Given the description of an element on the screen output the (x, y) to click on. 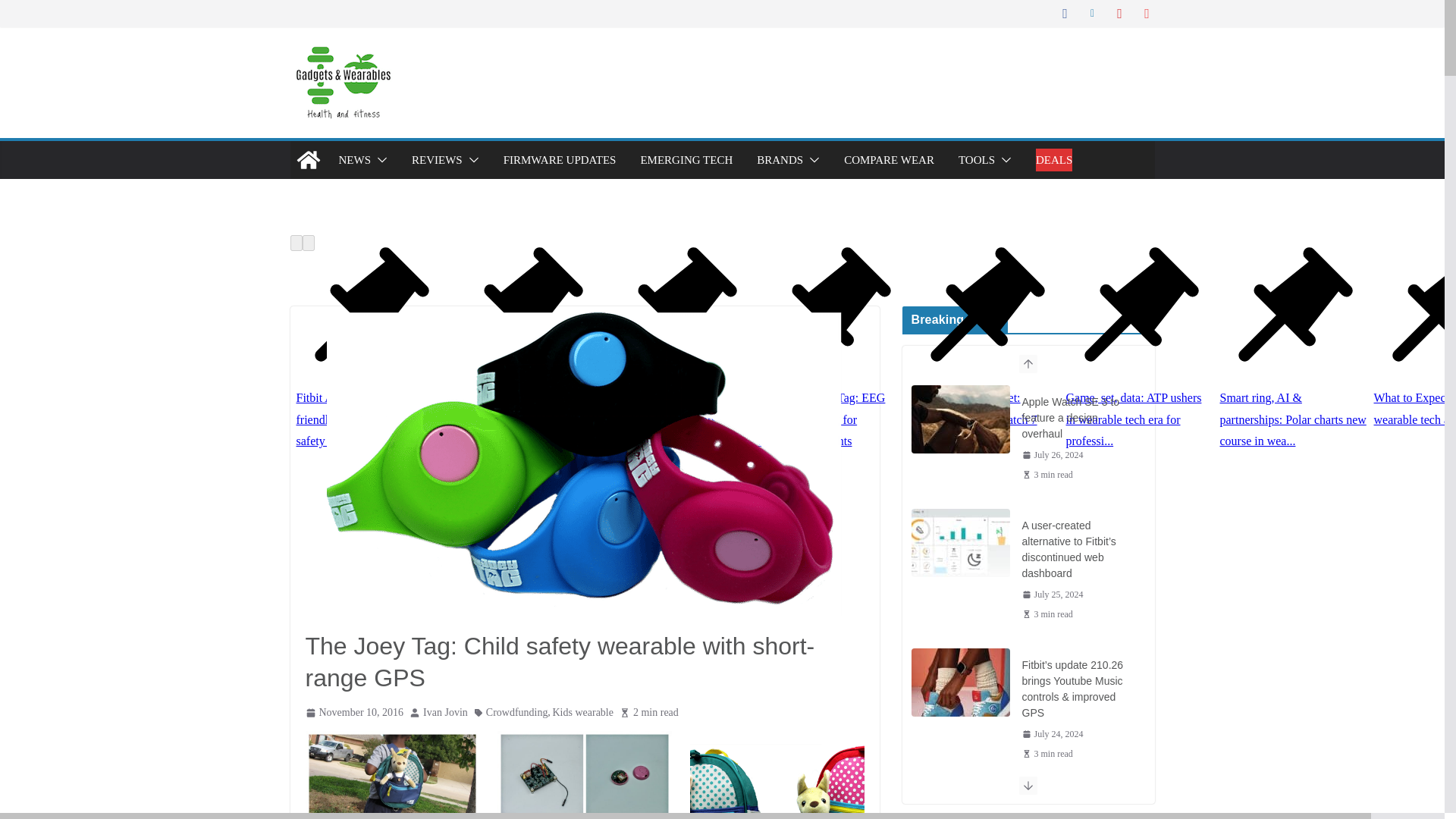
NEWS (354, 159)
FIRMWARE UPDATES (559, 159)
BRANDS (780, 159)
11:50 am (1052, 454)
EMERGING TECH (686, 159)
Ivan Jovin (445, 711)
REVIEWS (437, 159)
Apple Watch SE 3 to feature a design overhaul (960, 418)
10:40 am (353, 711)
Apple Watch SE 3 to feature a design overhaul (1078, 417)
